Given the description of an element on the screen output the (x, y) to click on. 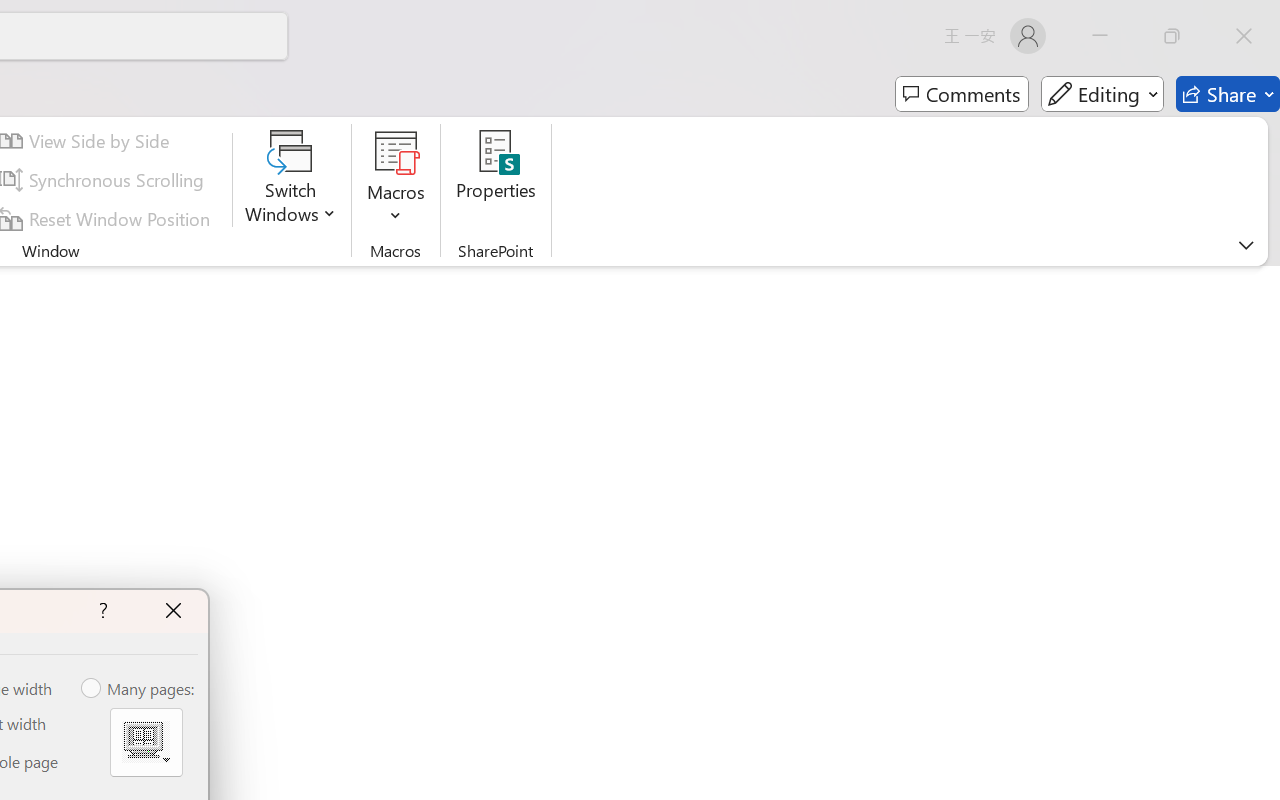
Editing (1101, 94)
MSO Generic Control Container (146, 742)
View Macros (395, 151)
